Given the description of an element on the screen output the (x, y) to click on. 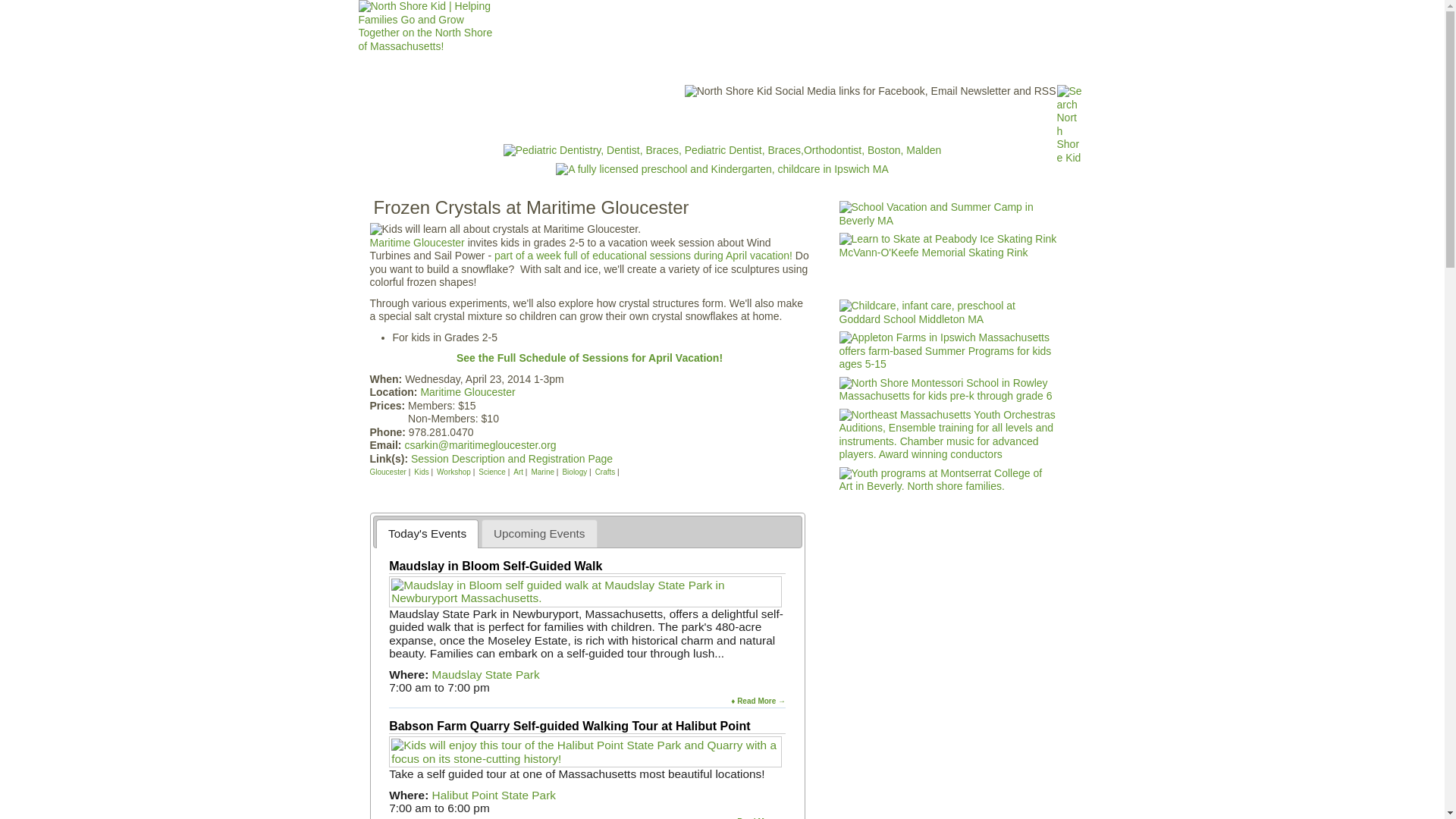
Crafts (605, 471)
Workshop (453, 471)
ADVERTISE (892, 121)
Kids (421, 471)
CAMPS (751, 121)
North Shore Kid (532, 121)
Gloucester (387, 471)
Biology (574, 471)
Babson Farm Quarry Self-guided Walking Tour at Halibut Point (568, 725)
Halibut Point State Park (494, 794)
